Given the description of an element on the screen output the (x, y) to click on. 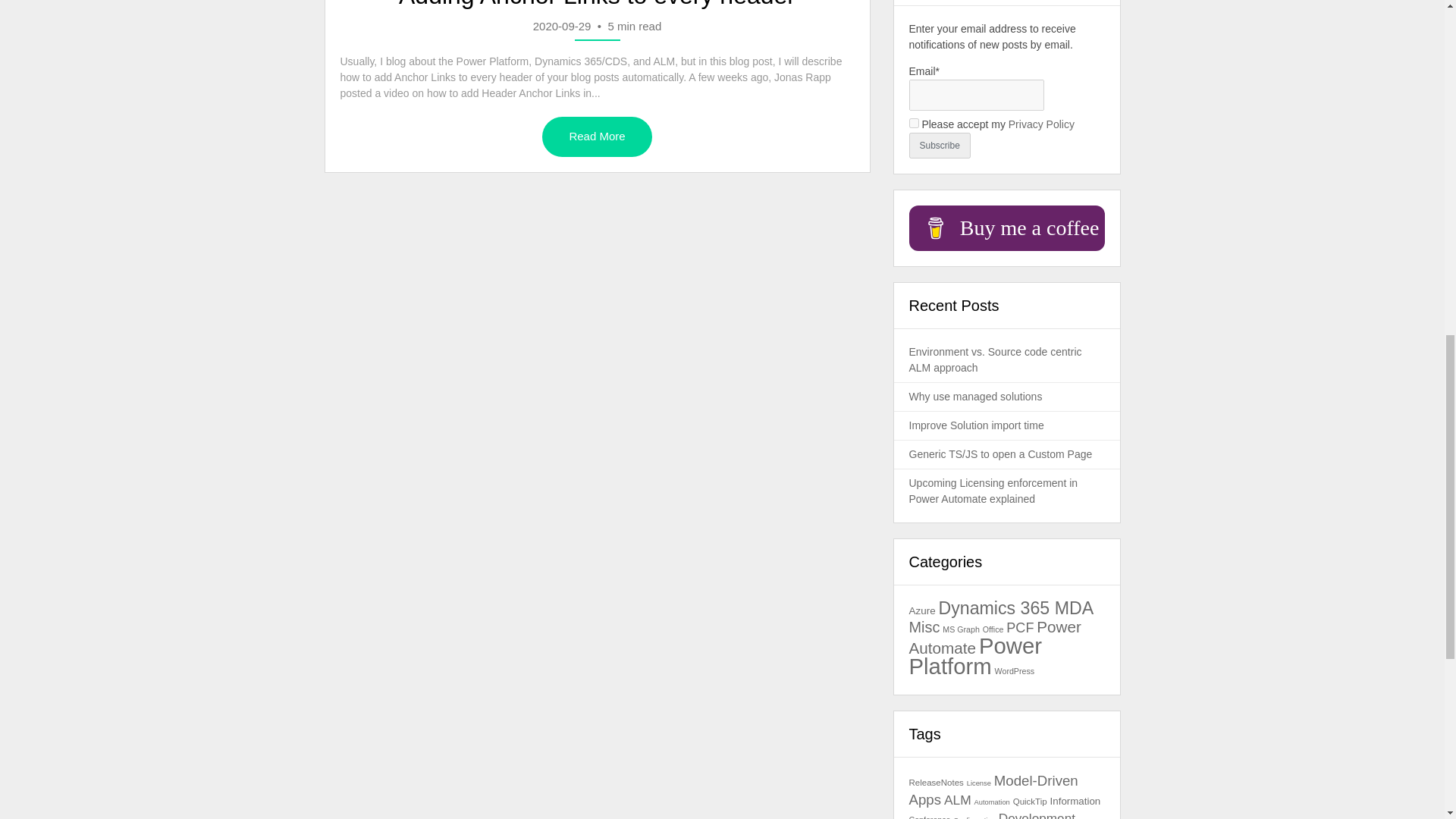
Buy me a coffee (1005, 227)
Power Platform (975, 655)
Why use managed solutions (975, 396)
Dynamics 365 MDA (1016, 608)
Adding Anchor Links to every header (596, 4)
Misc (923, 627)
Read More (595, 137)
Adding Anchor Links to every header (596, 4)
MS Graph (960, 628)
Subscribe (938, 145)
Subscribe (938, 145)
true (913, 122)
Upcoming Licensing enforcement in Power Automate explained (992, 490)
Adding Anchor Links to every header (595, 137)
WordPress (1014, 670)
